Given the description of an element on the screen output the (x, y) to click on. 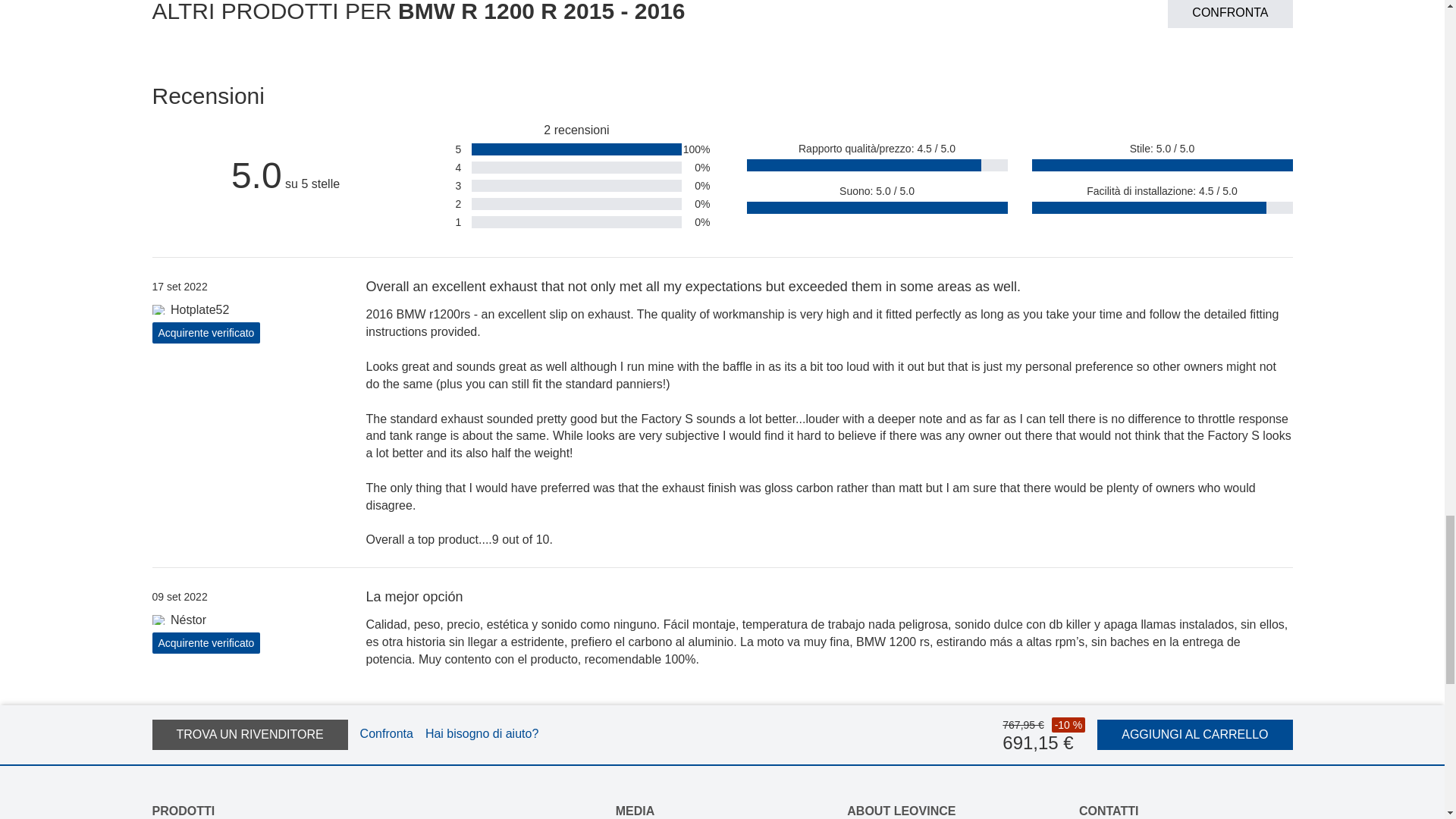
3 star (446, 184)
1 star (446, 221)
4 star (446, 166)
5 star (446, 148)
2 star (446, 203)
